Given the description of an element on the screen output the (x, y) to click on. 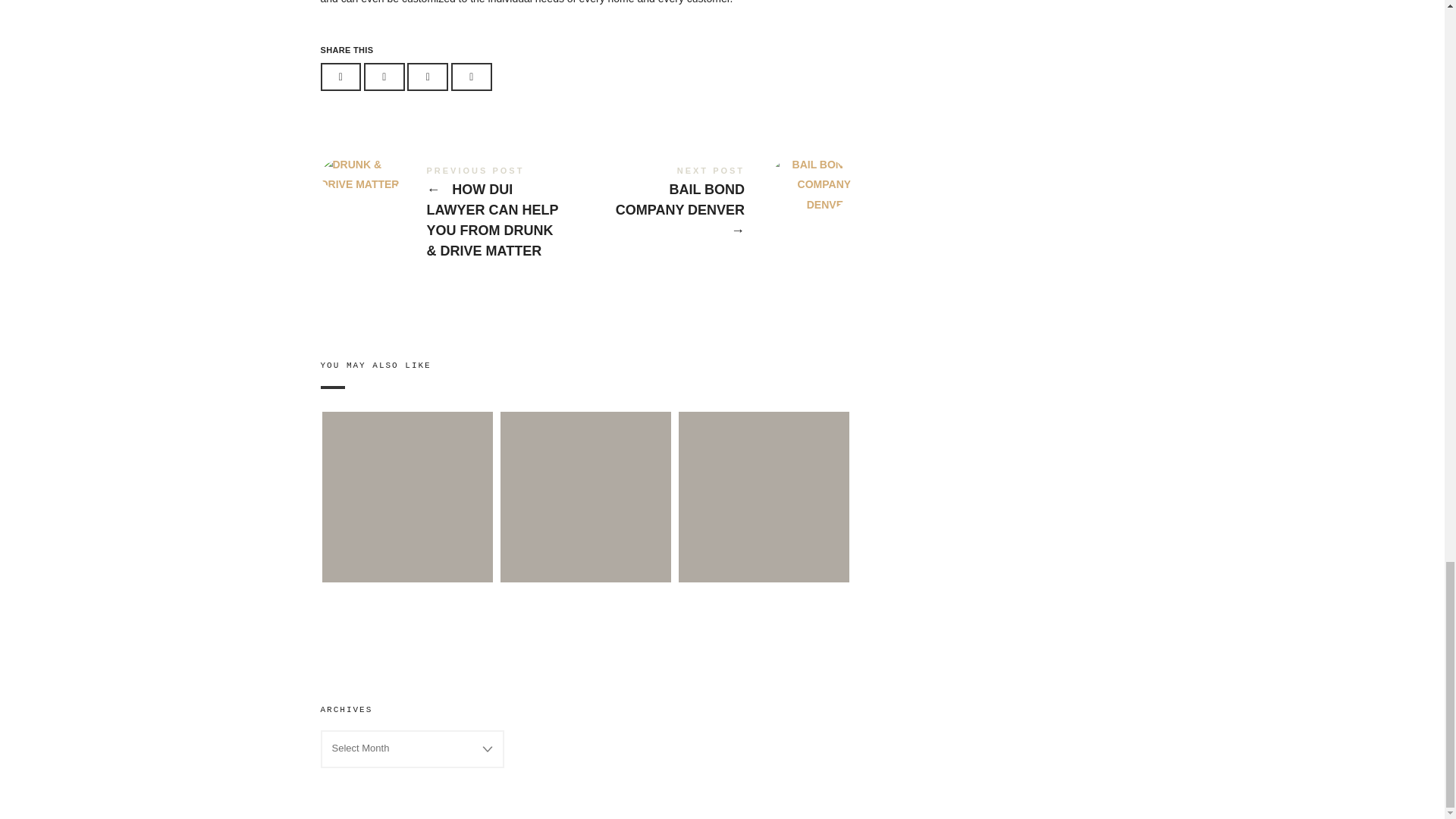
Share this post on Facebook (340, 76)
Email this post to a friend (471, 76)
BAIL BOND COMPANY DENVER (717, 204)
Share this post with your followers (384, 76)
